Given the description of an element on the screen output the (x, y) to click on. 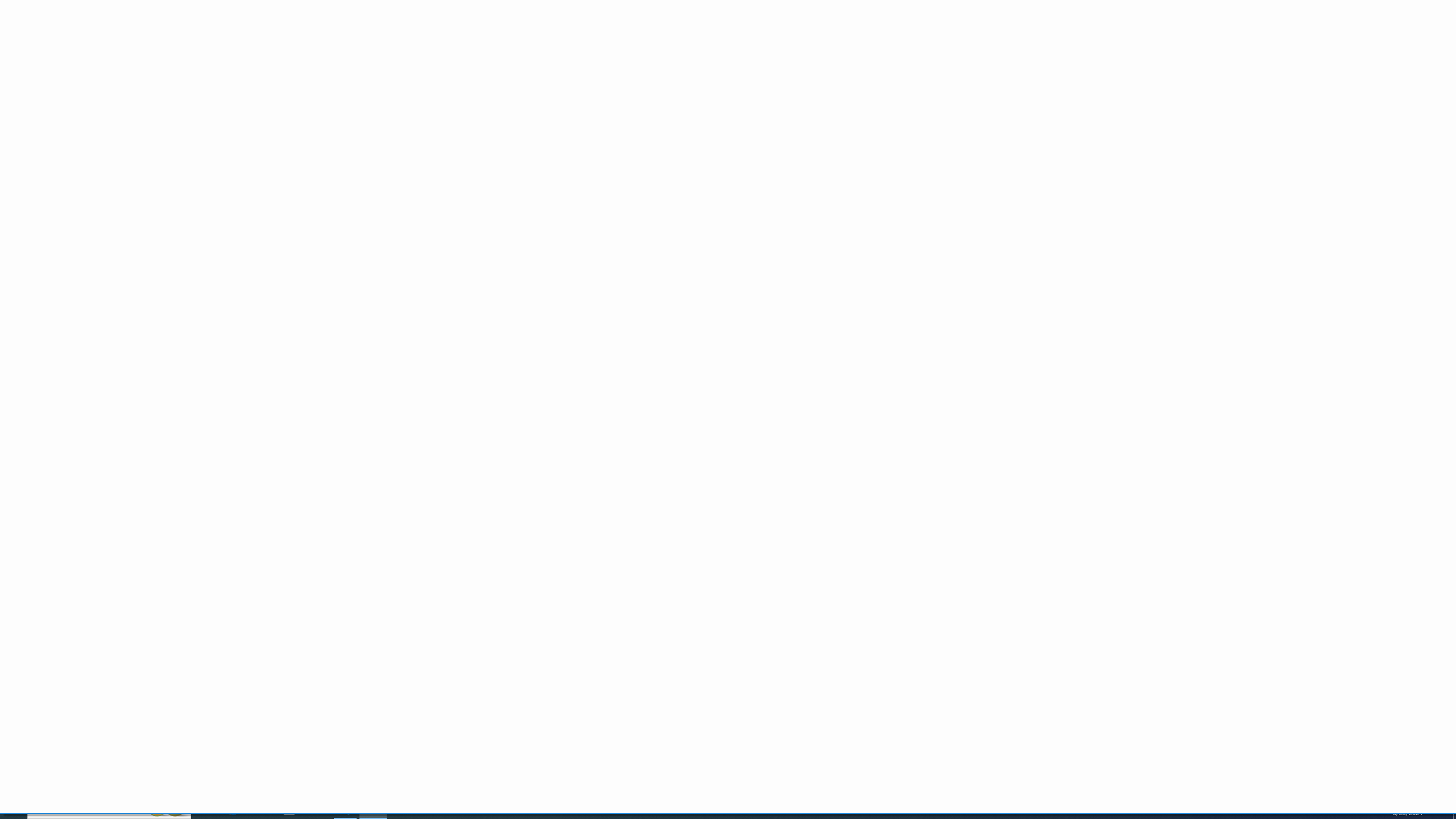
Copy (49, 58)
Orientation (311, 49)
Class: MsoCommandBar (728, 45)
Bold (104, 67)
Font (142, 49)
Automate (334, 28)
Font (147, 49)
Class: NetUIImage (887, 68)
AutoSave (38, 9)
